Given the description of an element on the screen output the (x, y) to click on. 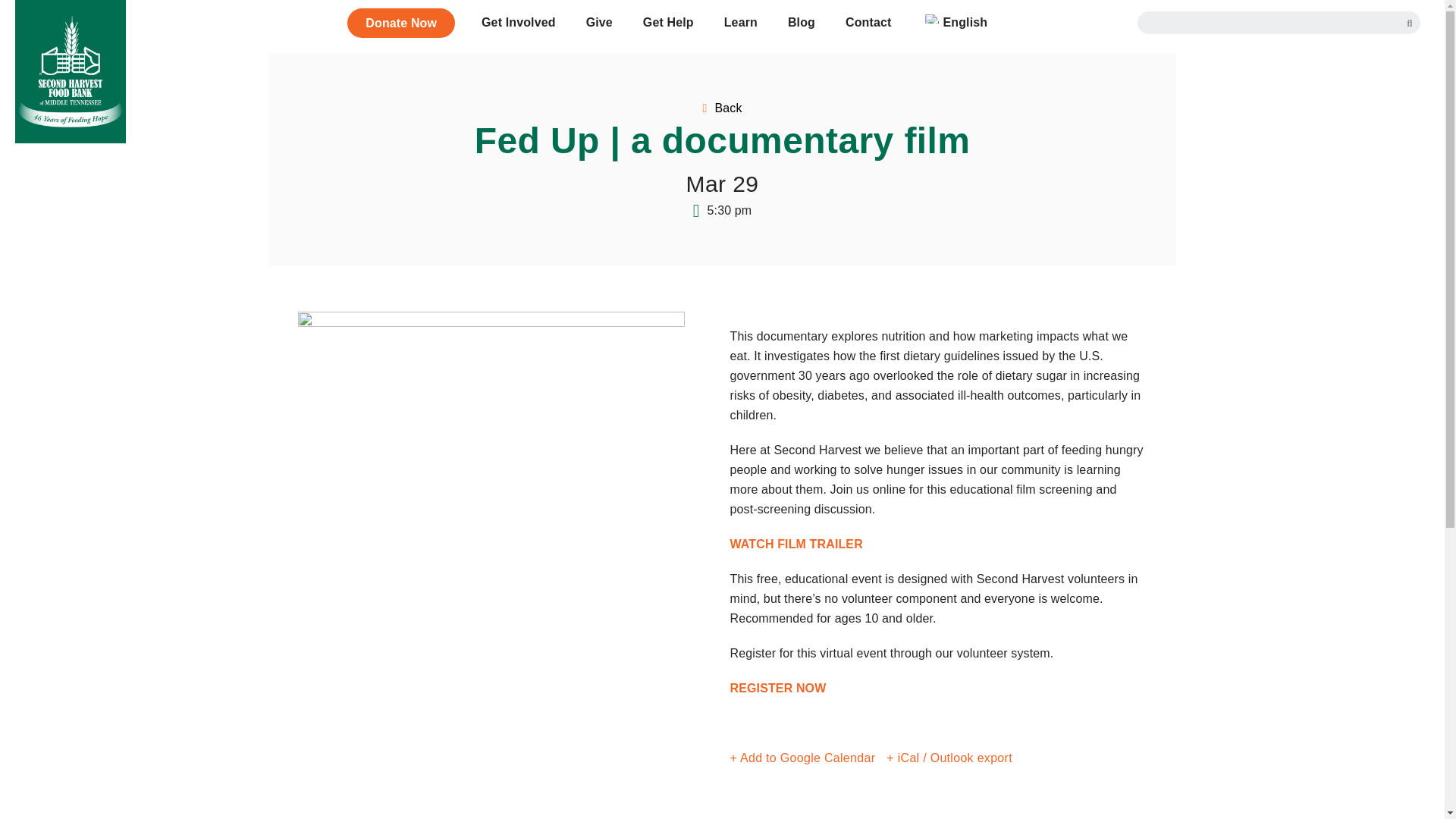
English (931, 18)
Contact (867, 22)
Donate Now (400, 22)
English (954, 22)
Get Involved (517, 22)
Blog (801, 22)
Get Help (668, 22)
Learn (741, 22)
Search (1272, 22)
Give (598, 22)
